Given the description of an element on the screen output the (x, y) to click on. 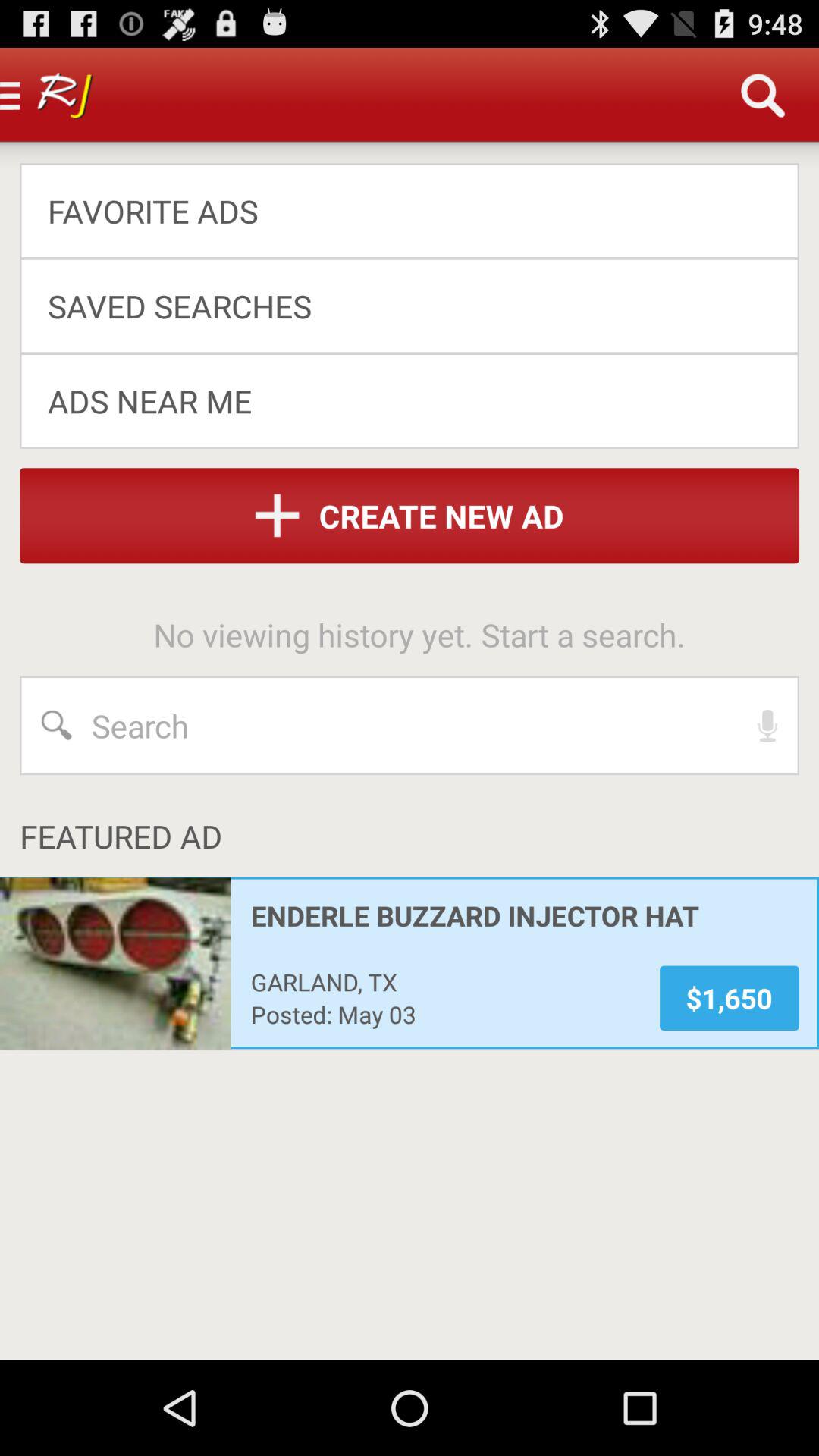
choose the item on the right (767, 725)
